Given the description of an element on the screen output the (x, y) to click on. 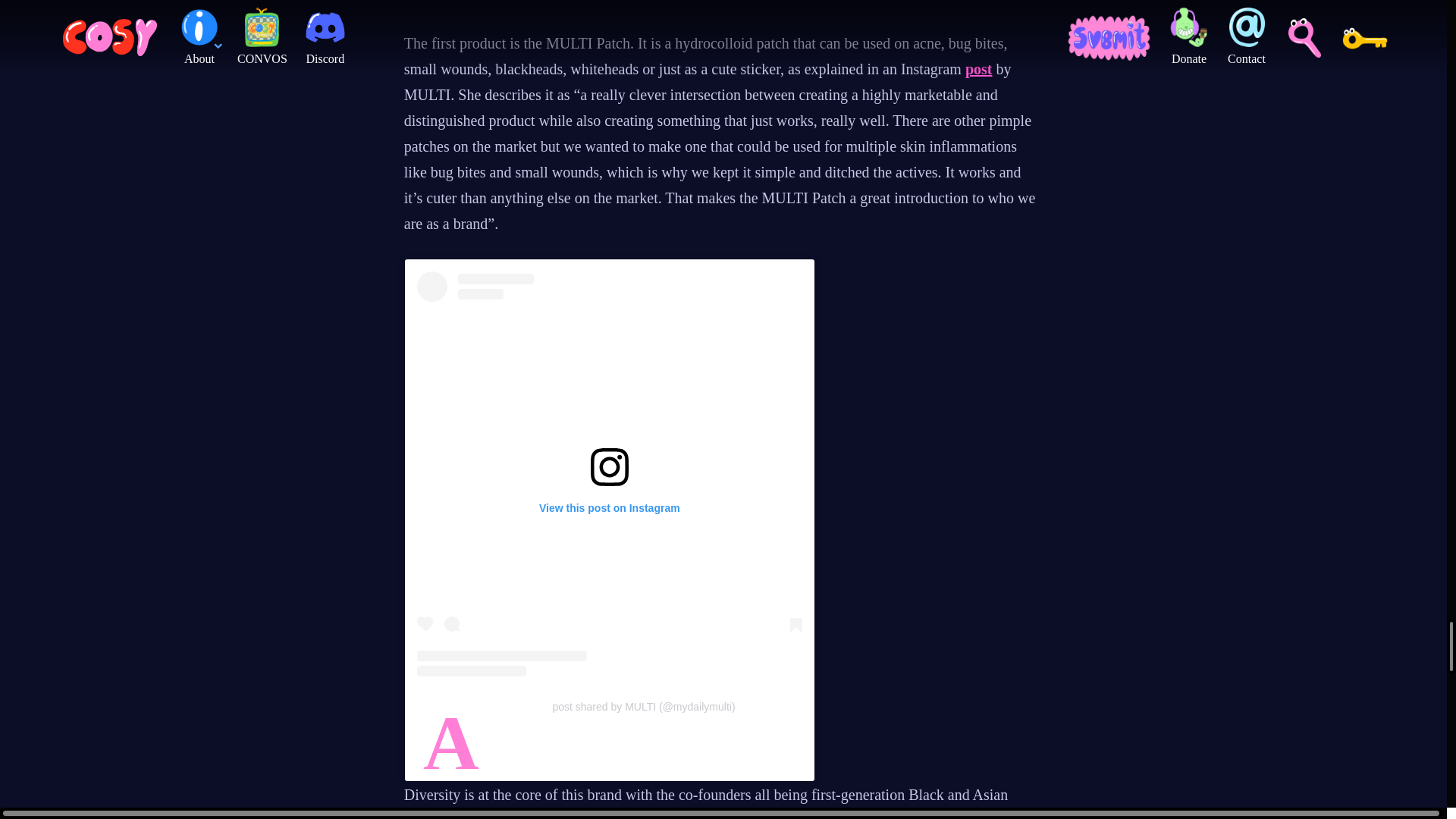
post (978, 68)
